Given the description of an element on the screen output the (x, y) to click on. 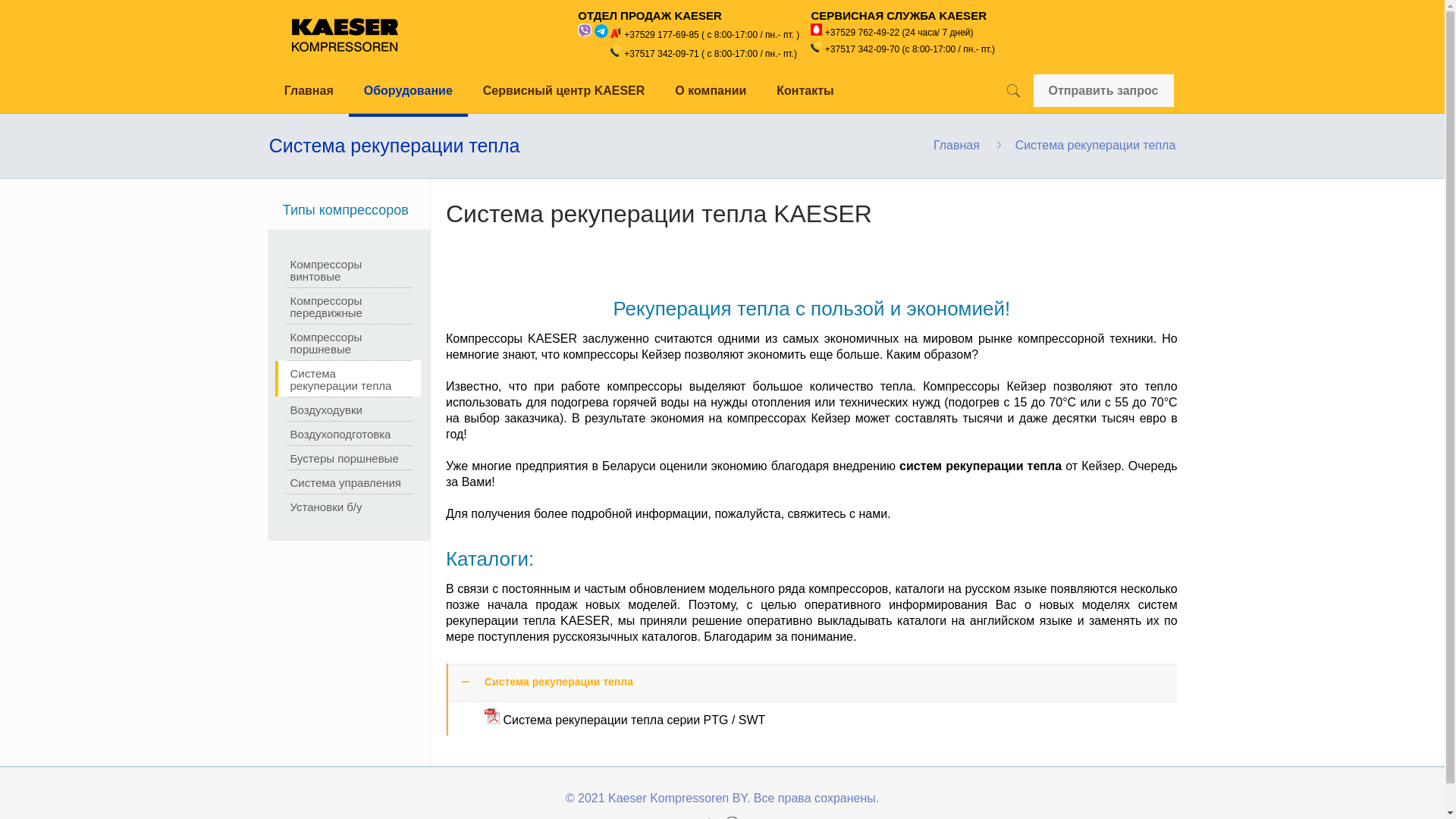
Kaeser Kompressoren BY Element type: hover (344, 34)
